Given the description of an element on the screen output the (x, y) to click on. 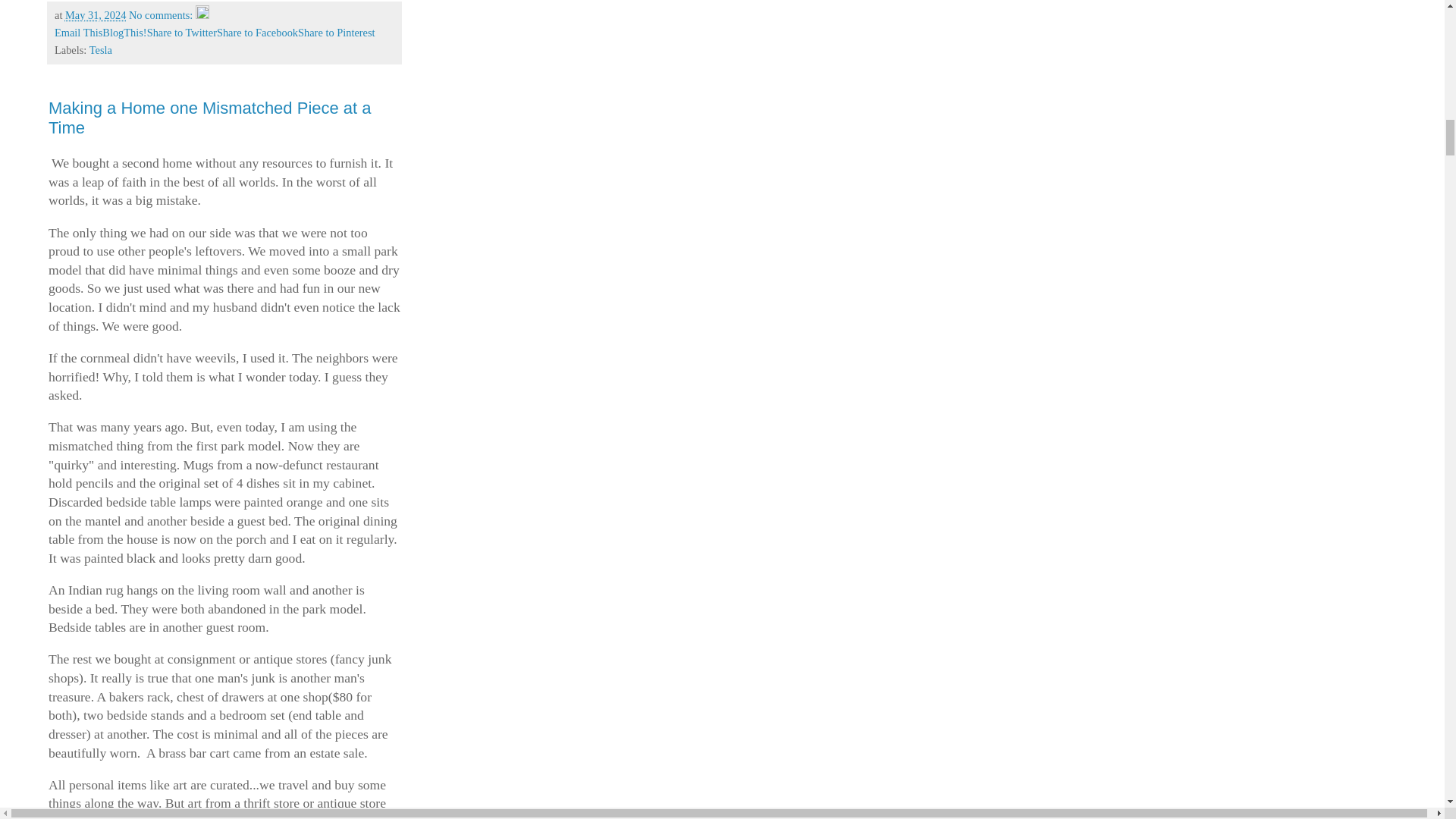
Share to Twitter (181, 32)
No comments: (162, 15)
BlogThis! (124, 32)
Share to Pinterest (336, 32)
Tesla (100, 50)
permanent link (95, 15)
Share to Pinterest (336, 32)
Share to Twitter (181, 32)
Making a Home one Mismatched Piece at a Time (209, 117)
BlogThis! (124, 32)
Email This (78, 32)
May 31, 2024 (95, 15)
Share to Facebook (257, 32)
Share to Facebook (257, 32)
Edit Post (202, 15)
